Given the description of an element on the screen output the (x, y) to click on. 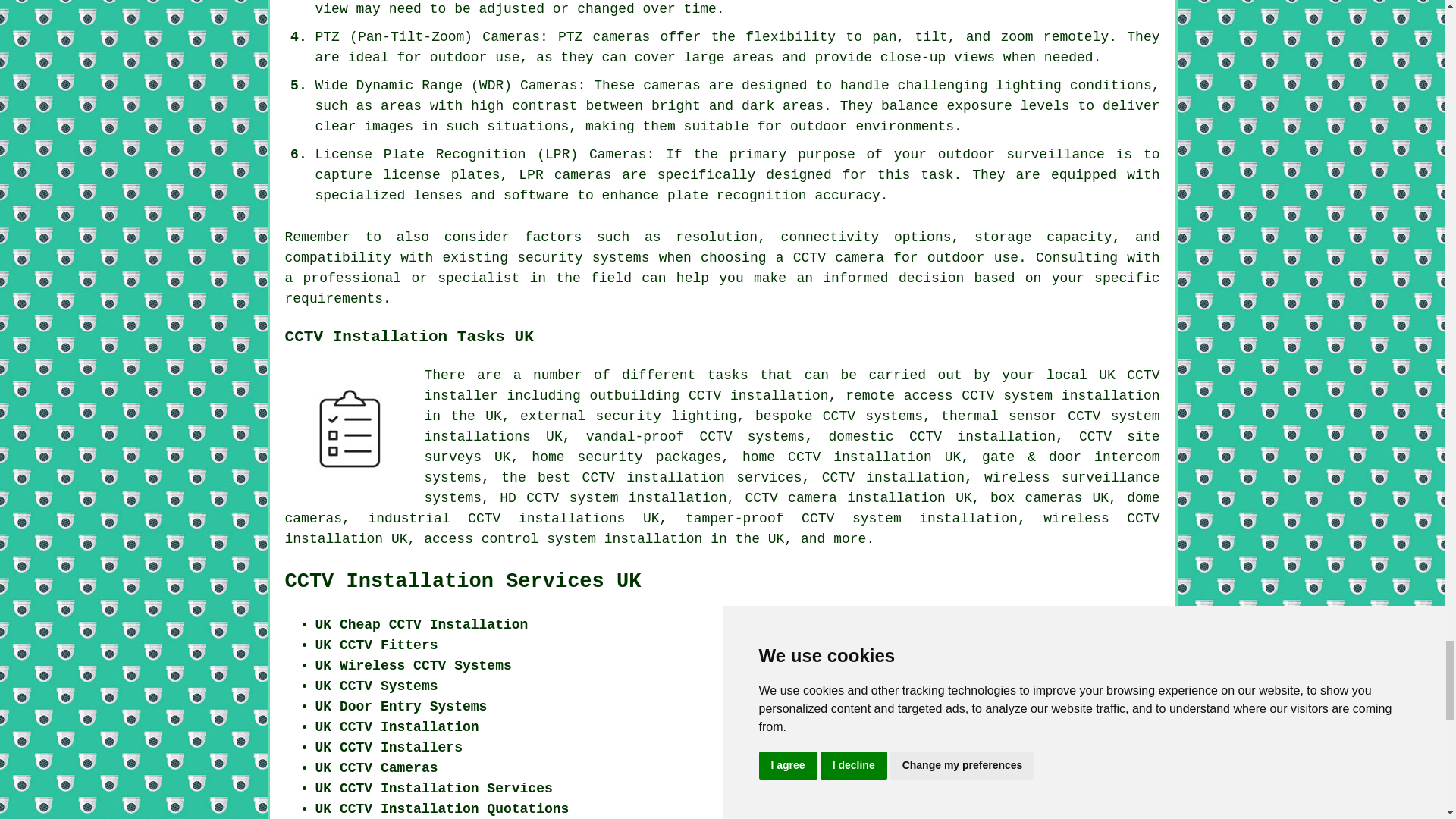
CCTV Related Tasks UK (349, 429)
